Given the description of an element on the screen output the (x, y) to click on. 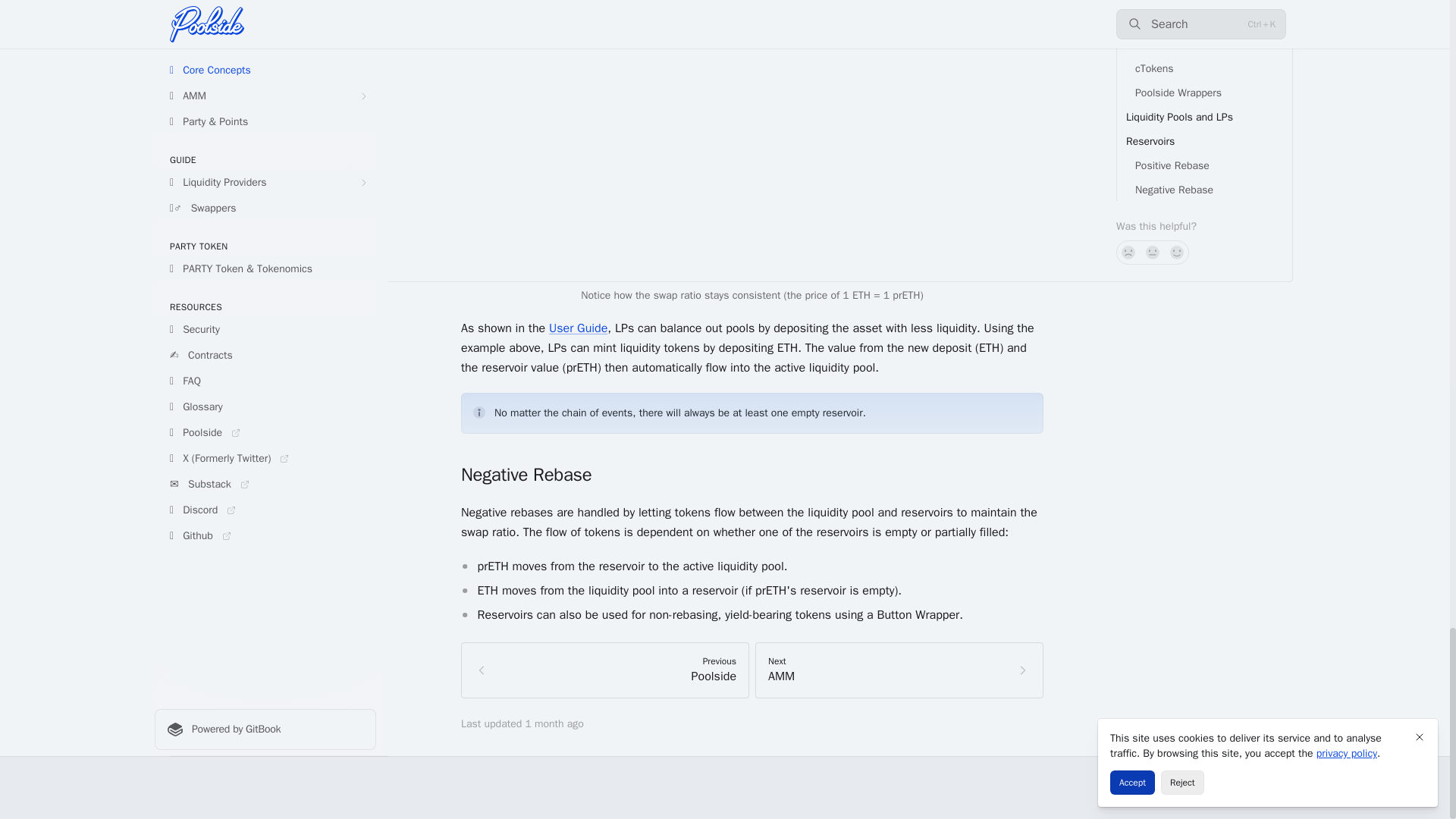
User Guide (899, 670)
